Given the description of an element on the screen output the (x, y) to click on. 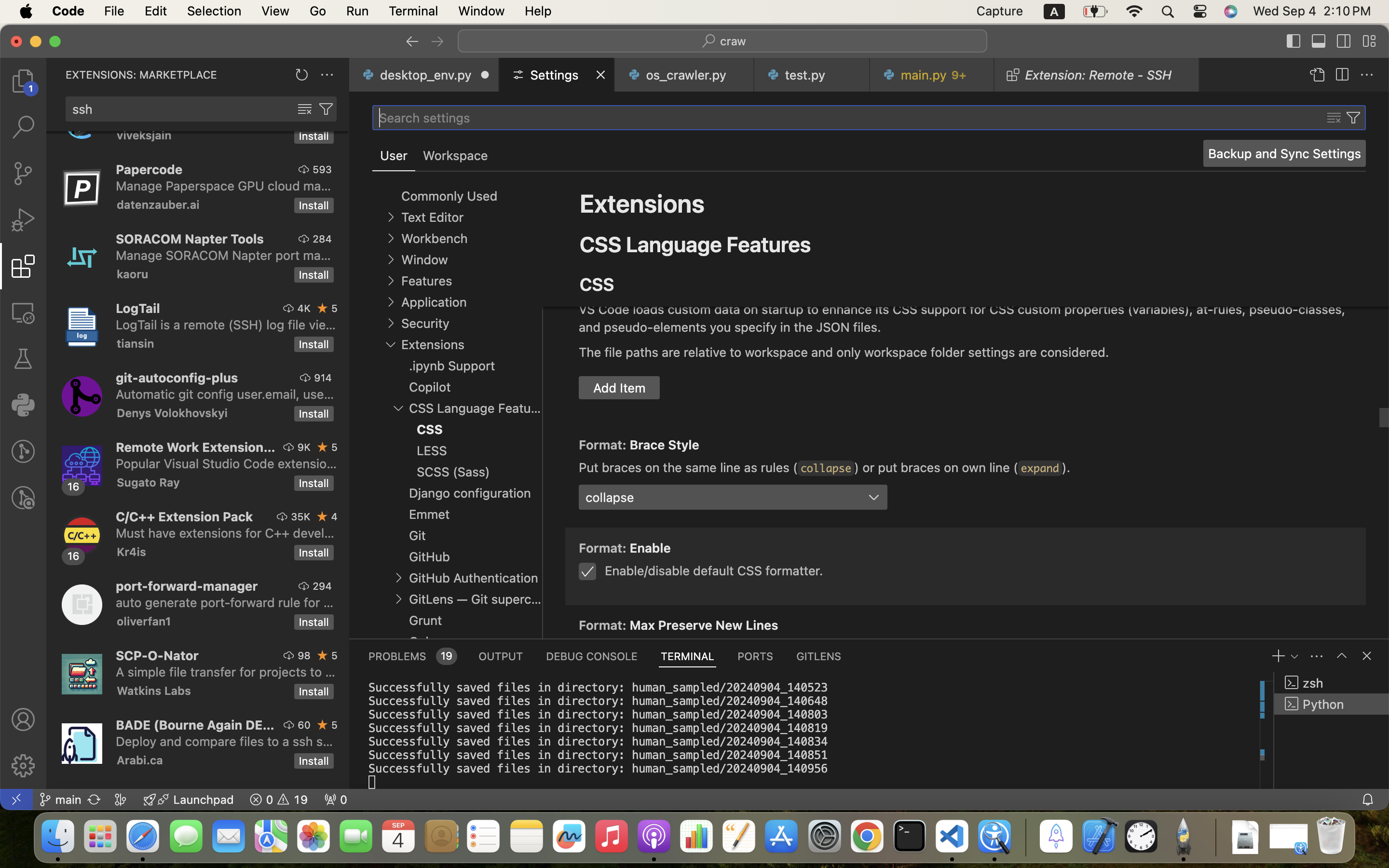
Deploy and compare files to a ssh server Element type: AXStaticText (224, 740)
 Element type: AXStaticText (1366, 74)
 Element type: AXButton (1366, 655)
0 GITLENS Element type: AXRadioButton (819, 655)
Enable Element type: AXStaticText (650, 548)
